Given the description of an element on the screen output the (x, y) to click on. 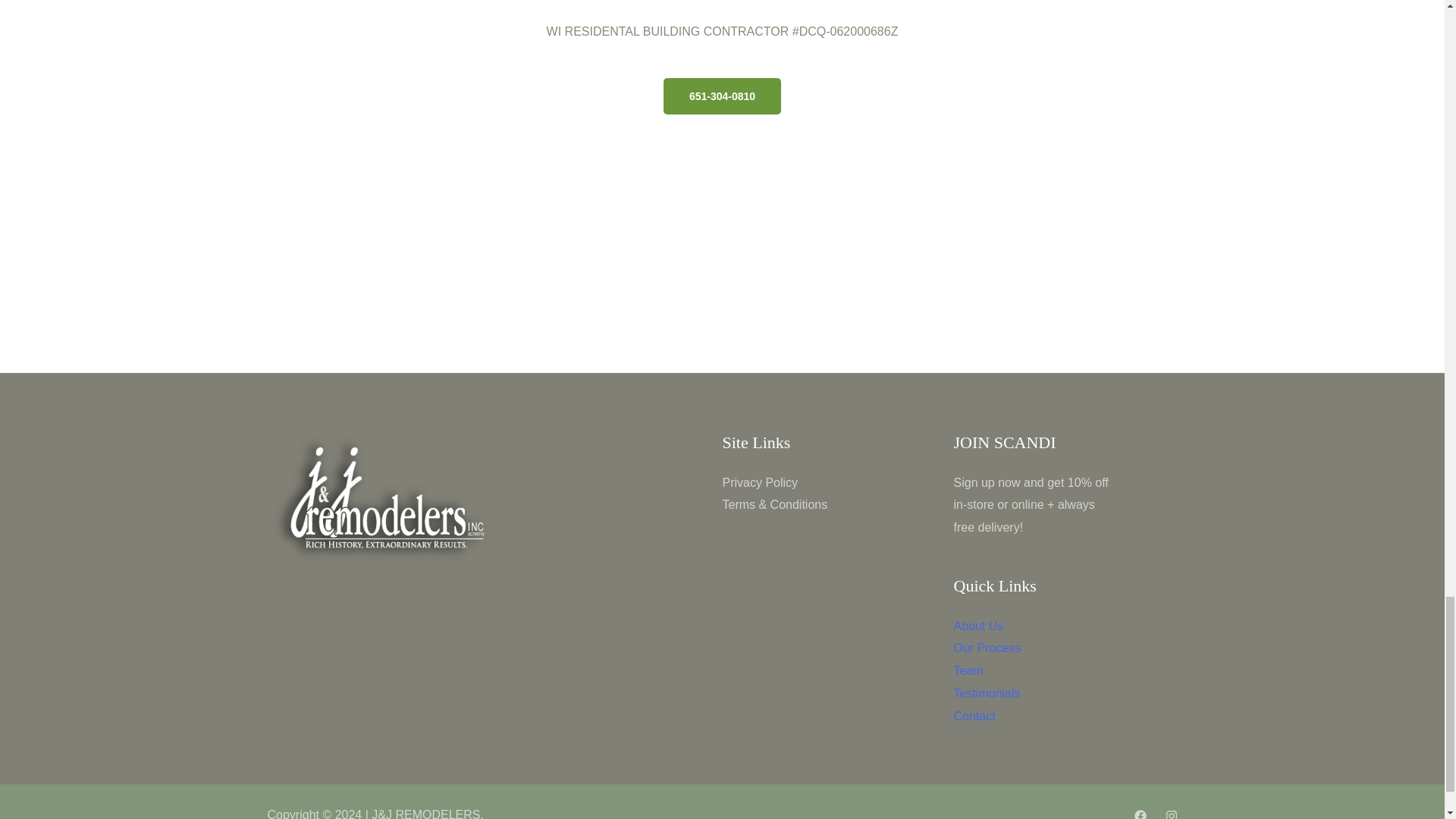
651-304-0810 (721, 95)
